Given the description of an element on the screen output the (x, y) to click on. 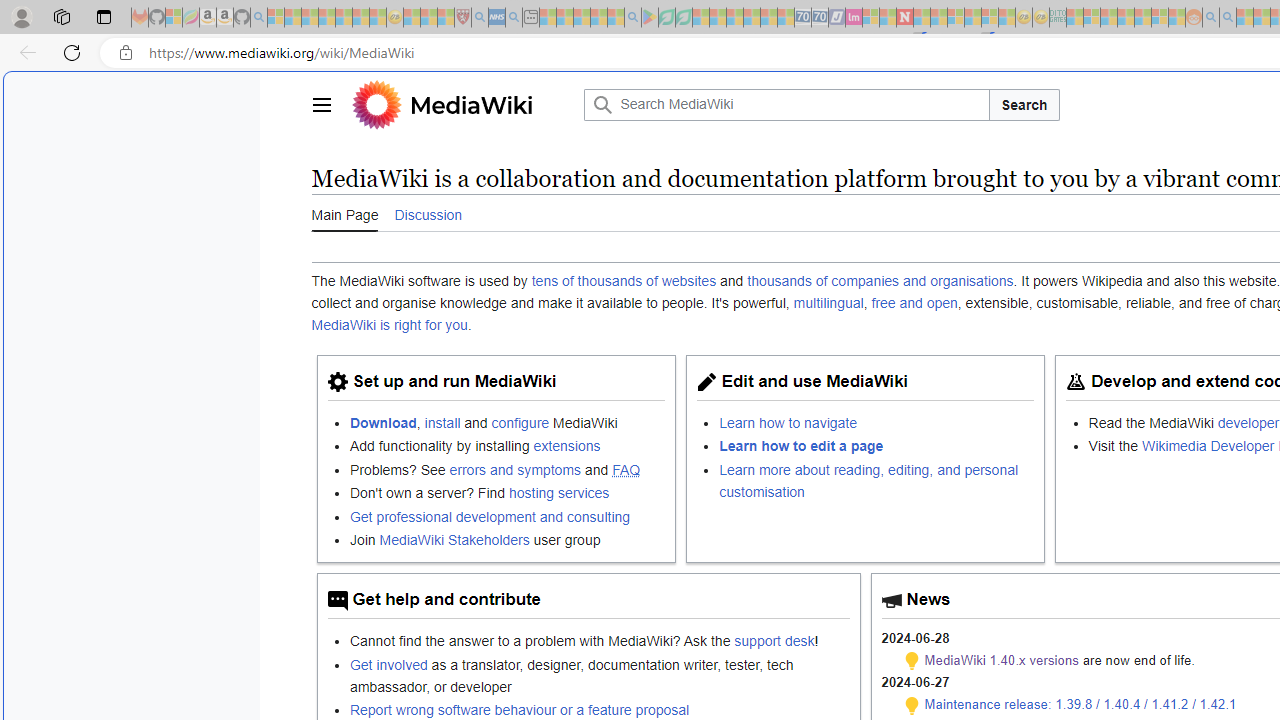
hosting services (559, 493)
free and open (913, 303)
FAQ (626, 469)
Don't own a server? Find hosting services (507, 492)
